Given the description of an element on the screen output the (x, y) to click on. 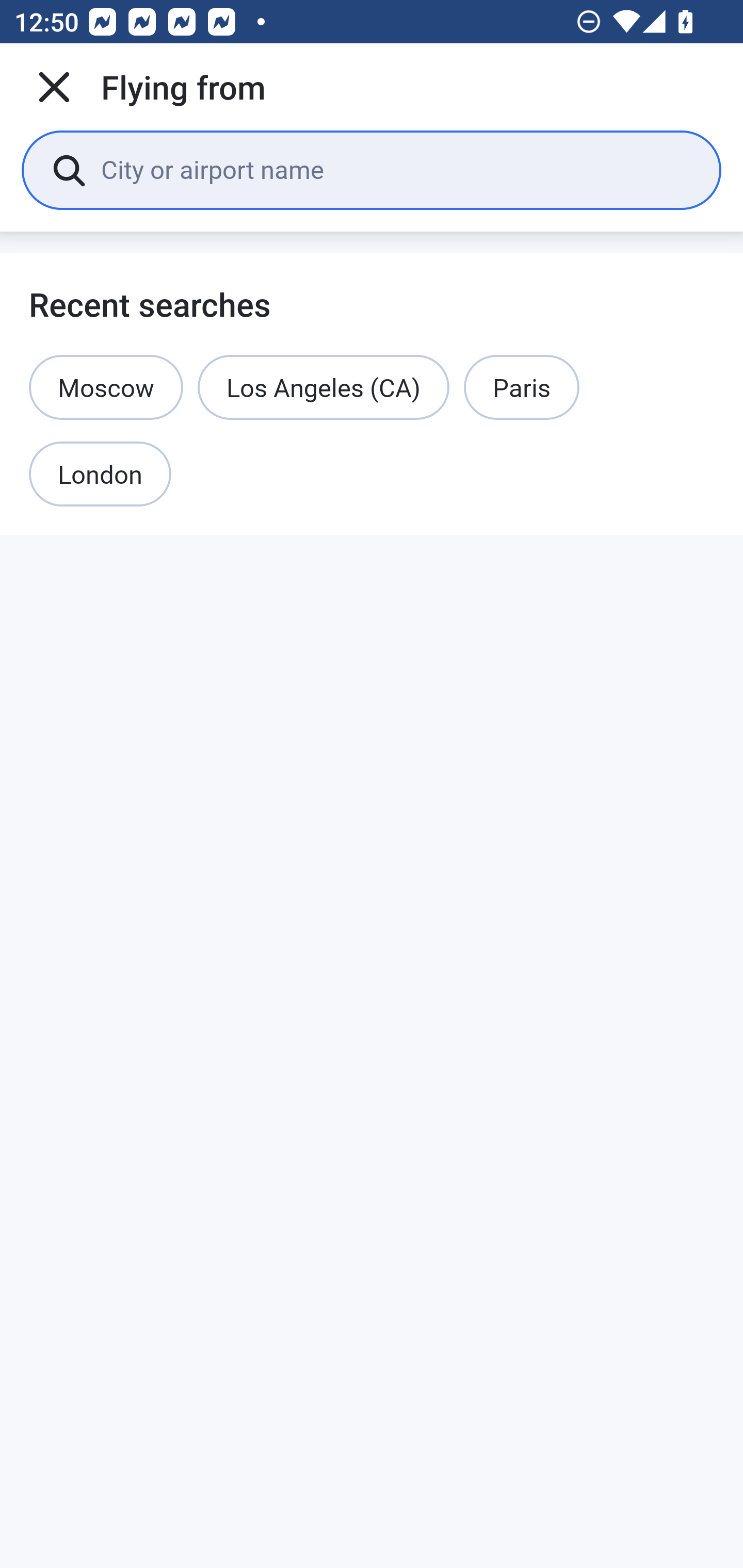
City or airport name (396, 169)
Moscow (105, 387)
Los Angeles (CA) (323, 387)
Paris (521, 387)
London (99, 474)
